Given the description of an element on the screen output the (x, y) to click on. 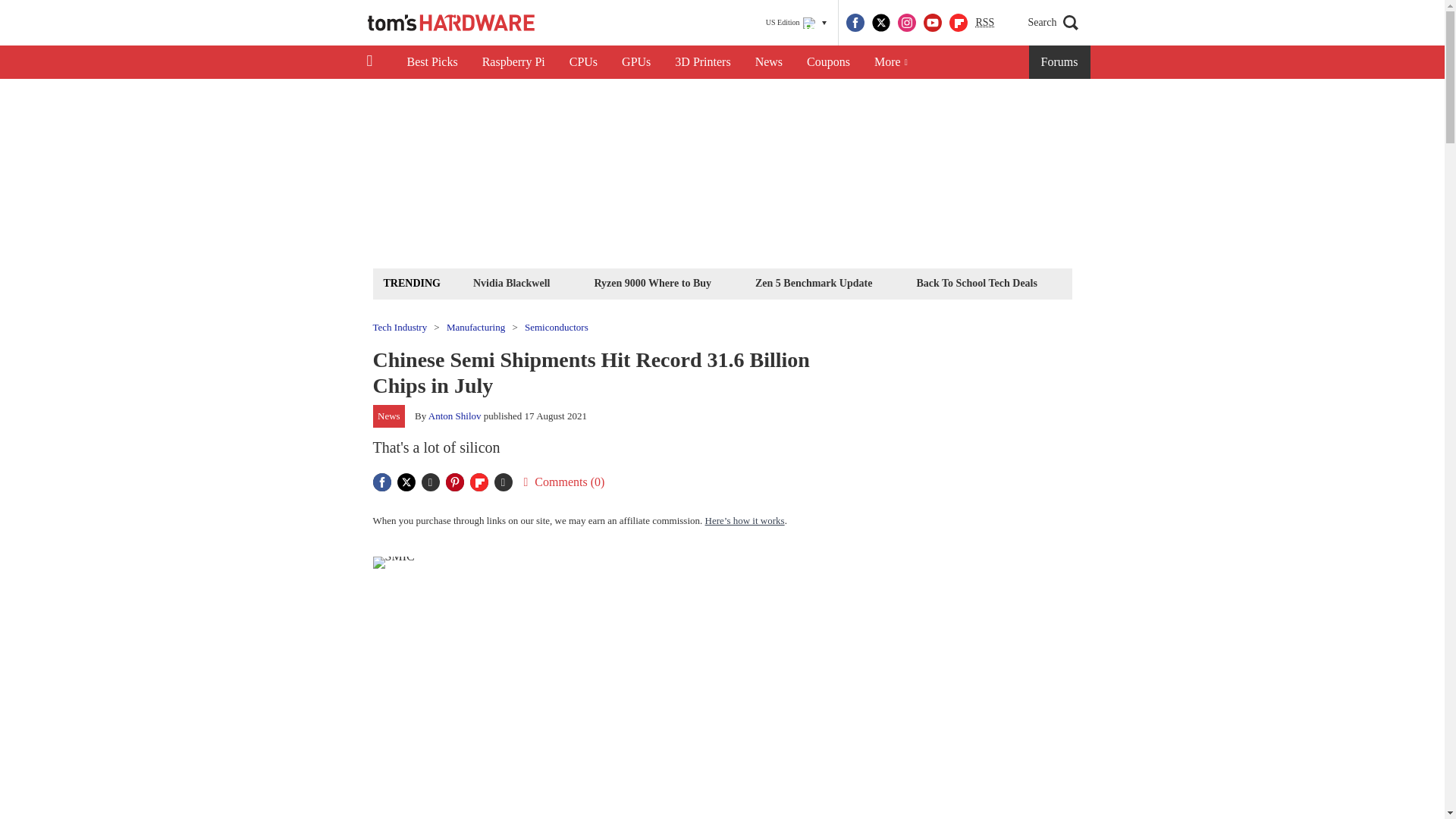
CPUs (583, 61)
Forums (1059, 61)
3D Printers (702, 61)
Coupons (827, 61)
News (768, 61)
Really Simple Syndication (984, 21)
GPUs (636, 61)
Raspberry Pi (513, 61)
US Edition (796, 22)
Best Picks (431, 61)
